Given the description of an element on the screen output the (x, y) to click on. 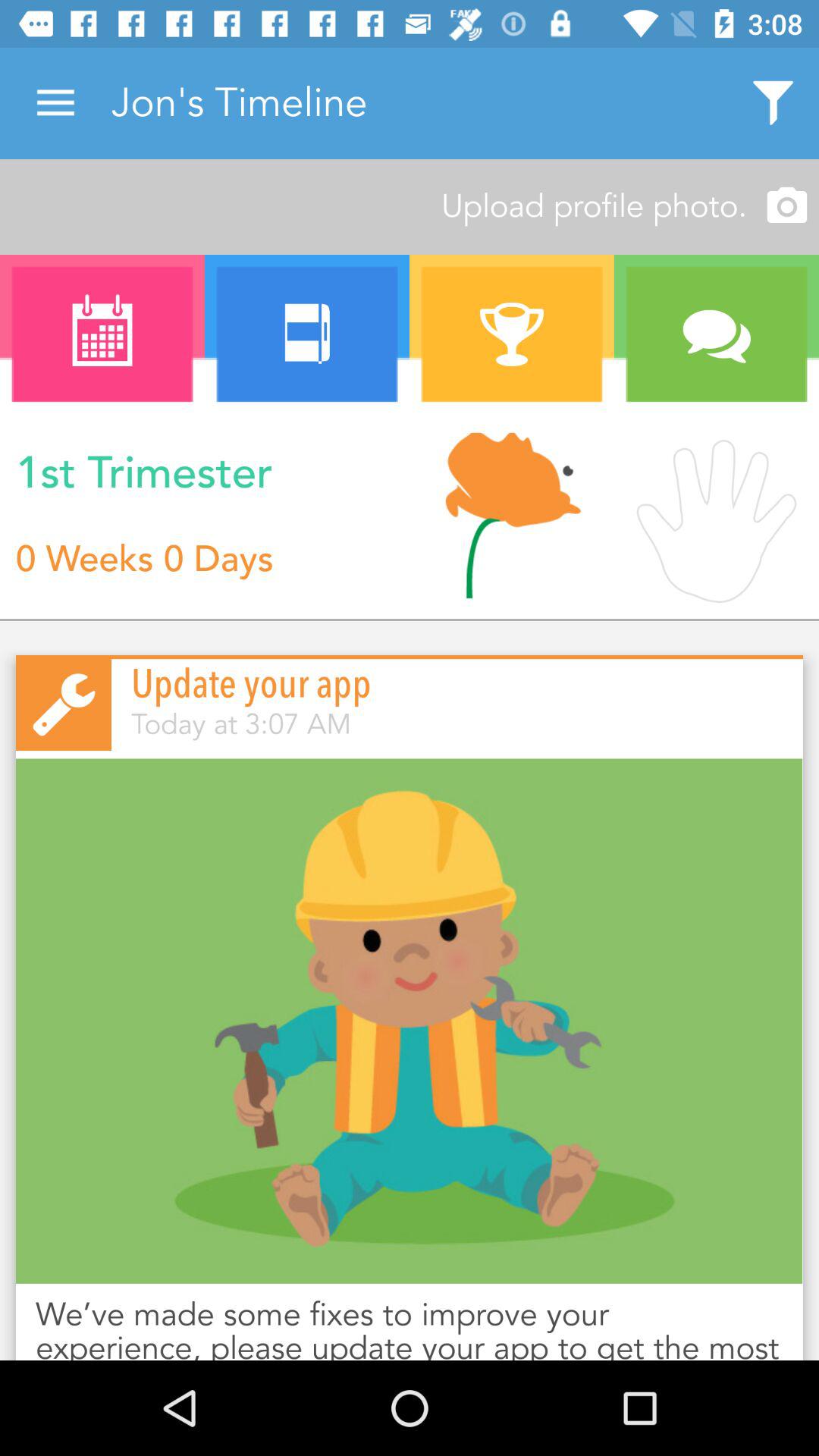
launch item below the n (511, 515)
